Given the description of an element on the screen output the (x, y) to click on. 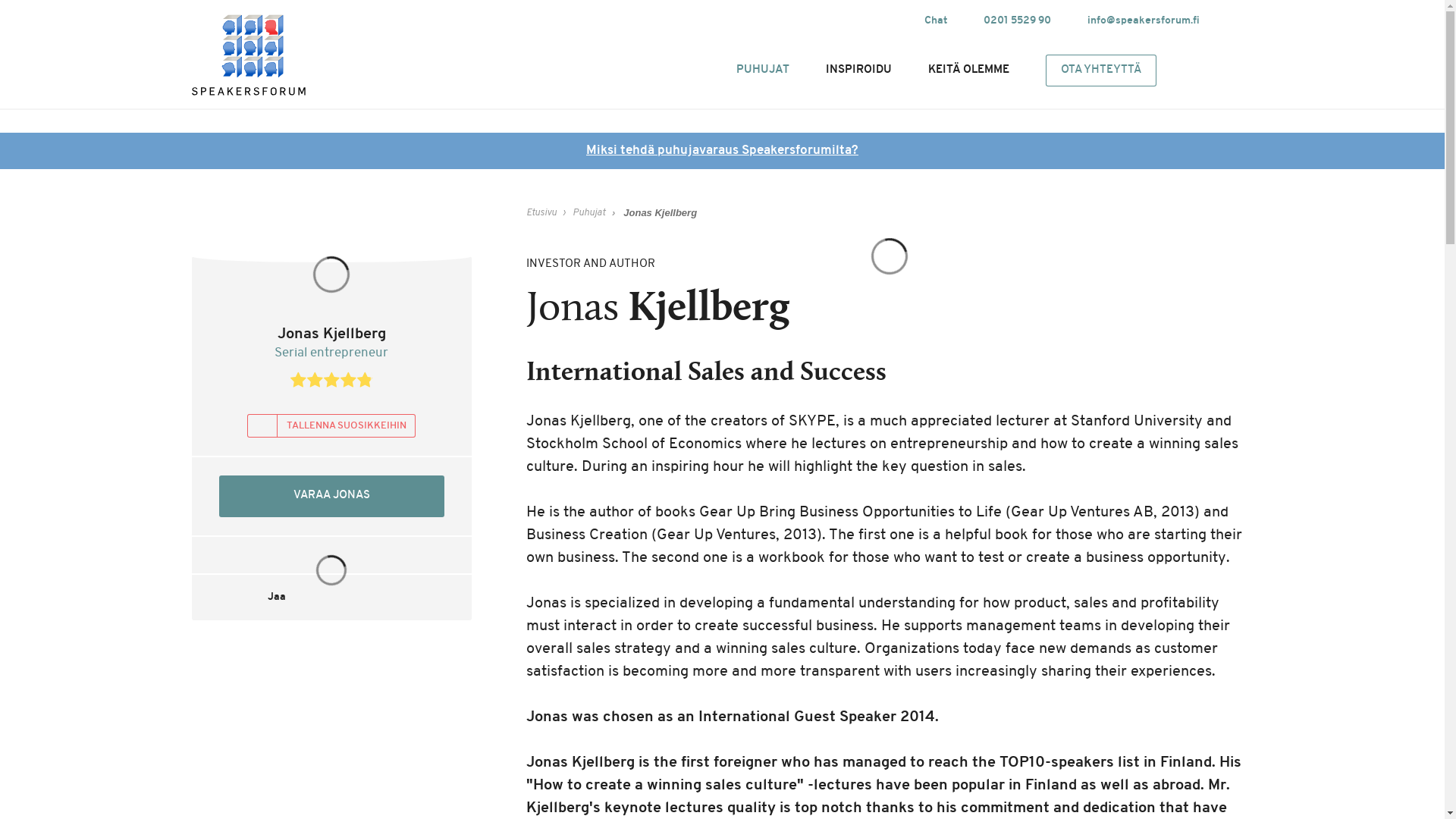
VARAA JONAS (331, 495)
Jonas Kjellberg (660, 212)
LinkedIn (822, 20)
Facebook (768, 20)
PUHUJAT (761, 69)
Etusivu (540, 212)
Youtube (796, 20)
X (850, 20)
Chat (934, 20)
Puhujat (588, 212)
0201 5529 90 (1015, 20)
INSPIROIDU (857, 69)
Inspiraatio (857, 69)
TikTok (877, 20)
